Given the description of an element on the screen output the (x, y) to click on. 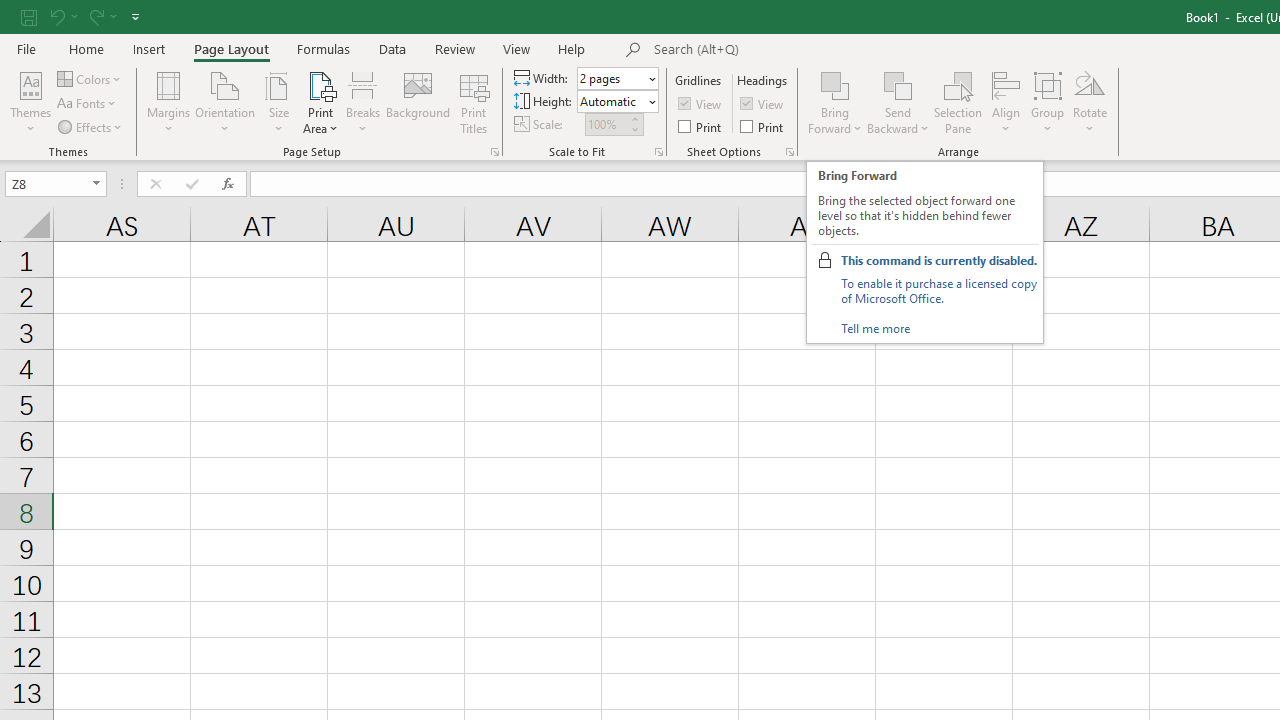
Background... (418, 102)
Themes (30, 102)
Breaks (362, 102)
Print (763, 126)
Print Area (320, 102)
Page Setup (658, 151)
Align (1005, 102)
Width (618, 78)
Bring Forward (835, 84)
Send Backward (898, 102)
Orientation (225, 102)
